Given the description of an element on the screen output the (x, y) to click on. 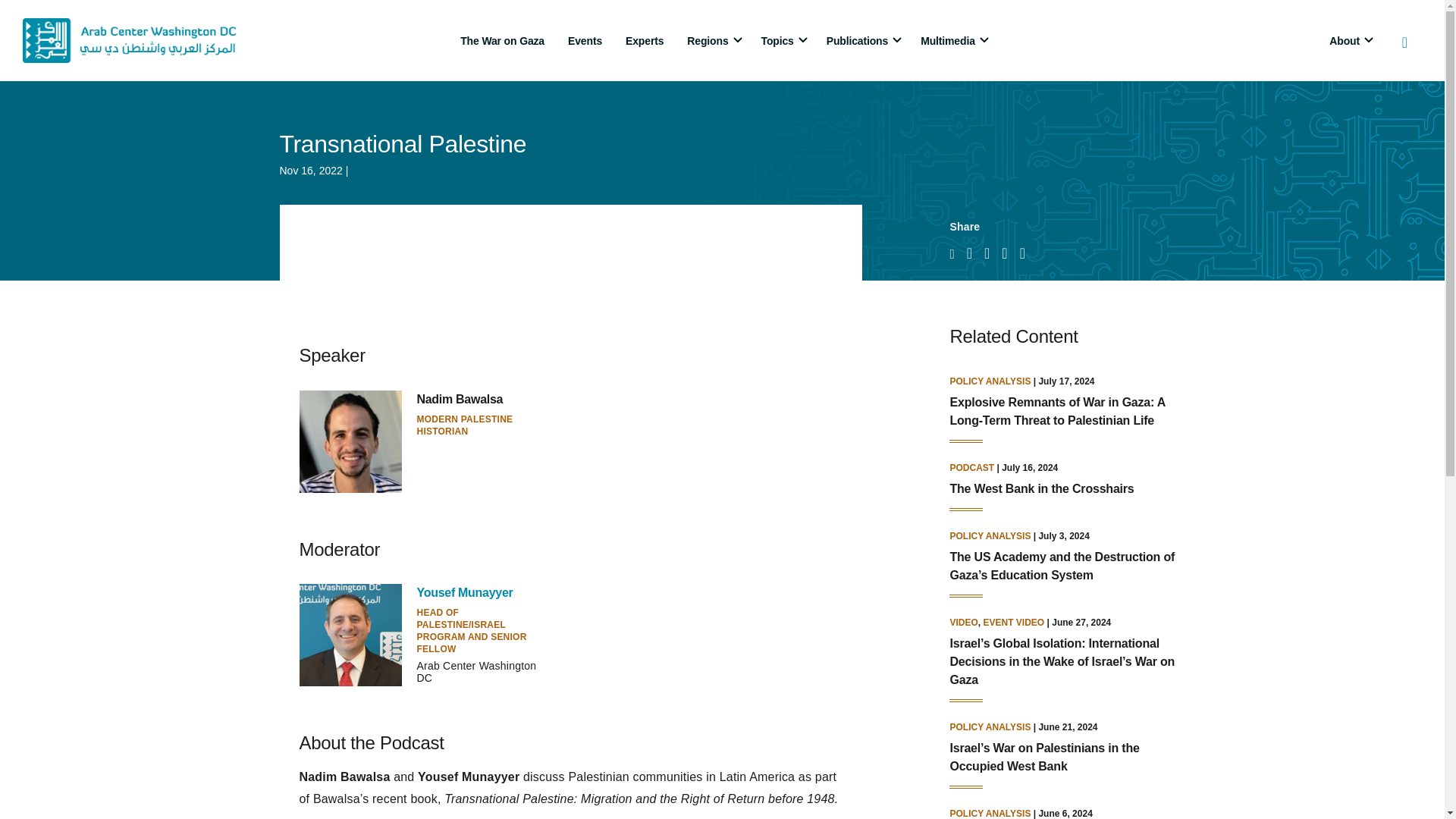
The War on Gaza (502, 40)
Go to Arab Center Washington DC Home. (129, 40)
Spotify Embed: Transnational Palestine (570, 262)
